Given the description of an element on the screen output the (x, y) to click on. 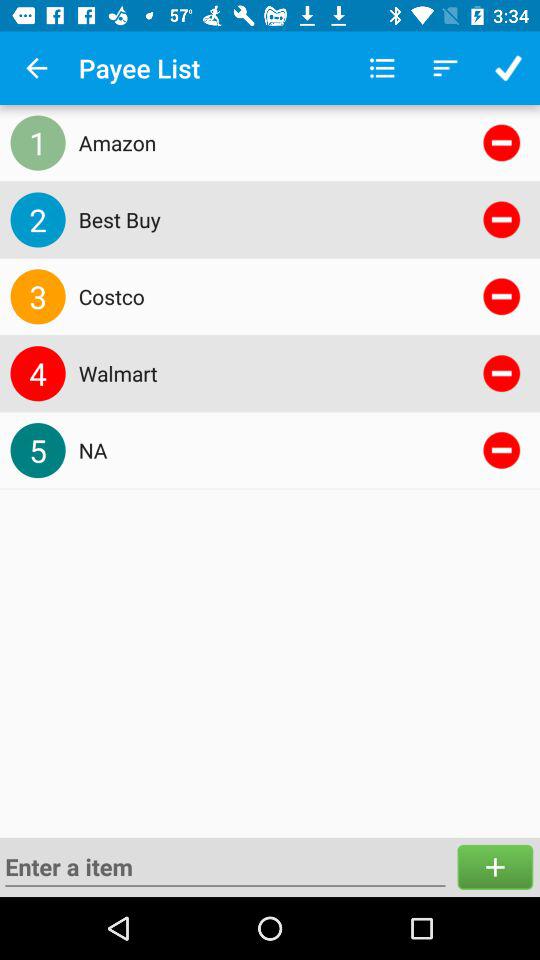
remove the item (501, 450)
